Given the description of an element on the screen output the (x, y) to click on. 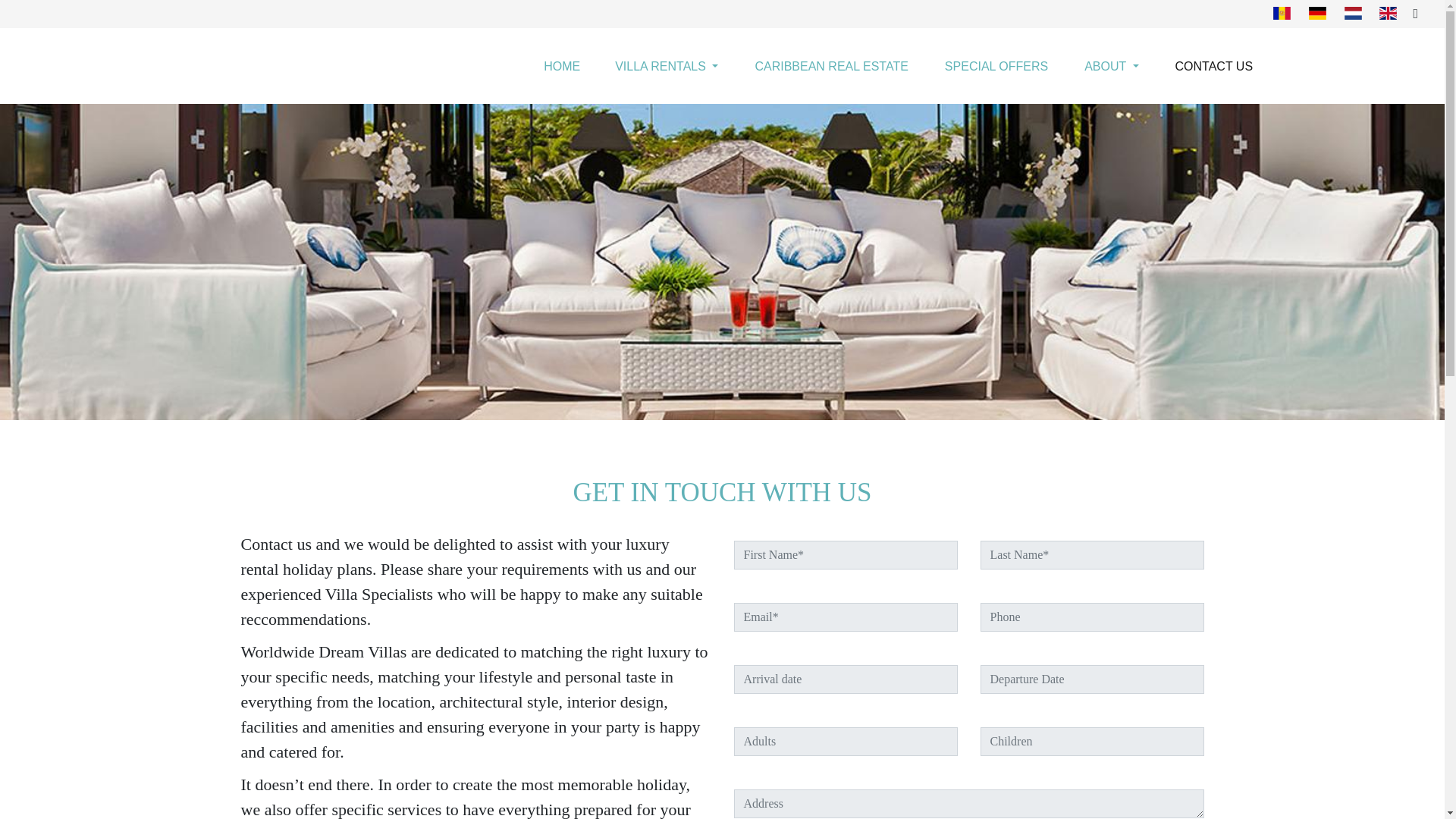
es (1281, 12)
HOME (561, 66)
ABOUT (1110, 66)
SPECIAL OFFERS (996, 66)
CARIBBEAN REAL ESTATE (831, 66)
German (1317, 12)
English (1387, 12)
Dutch (1352, 12)
VILLA RENTALS (666, 66)
